Given the description of an element on the screen output the (x, y) to click on. 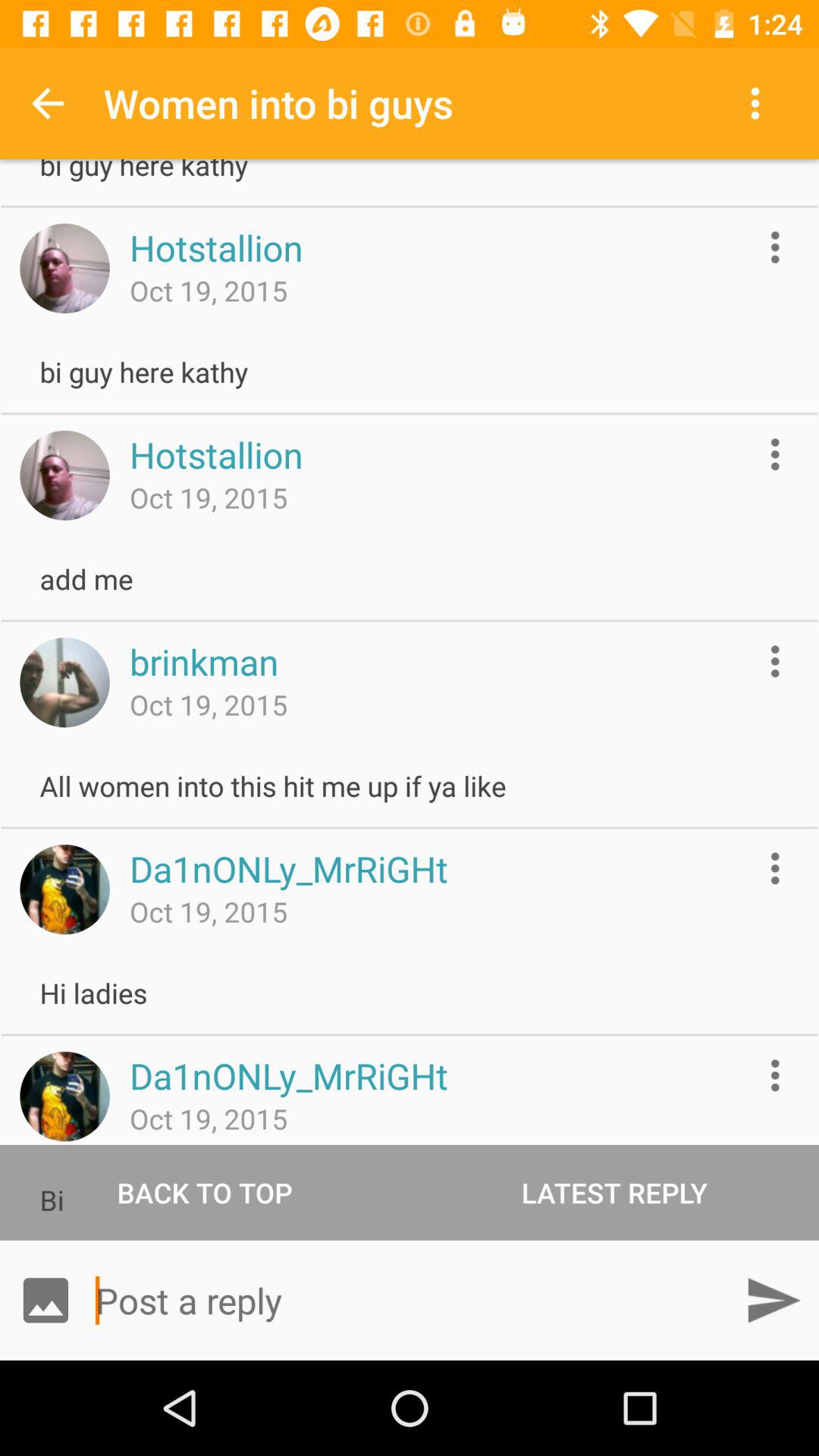
press latest reply (614, 1192)
